Given the description of an element on the screen output the (x, y) to click on. 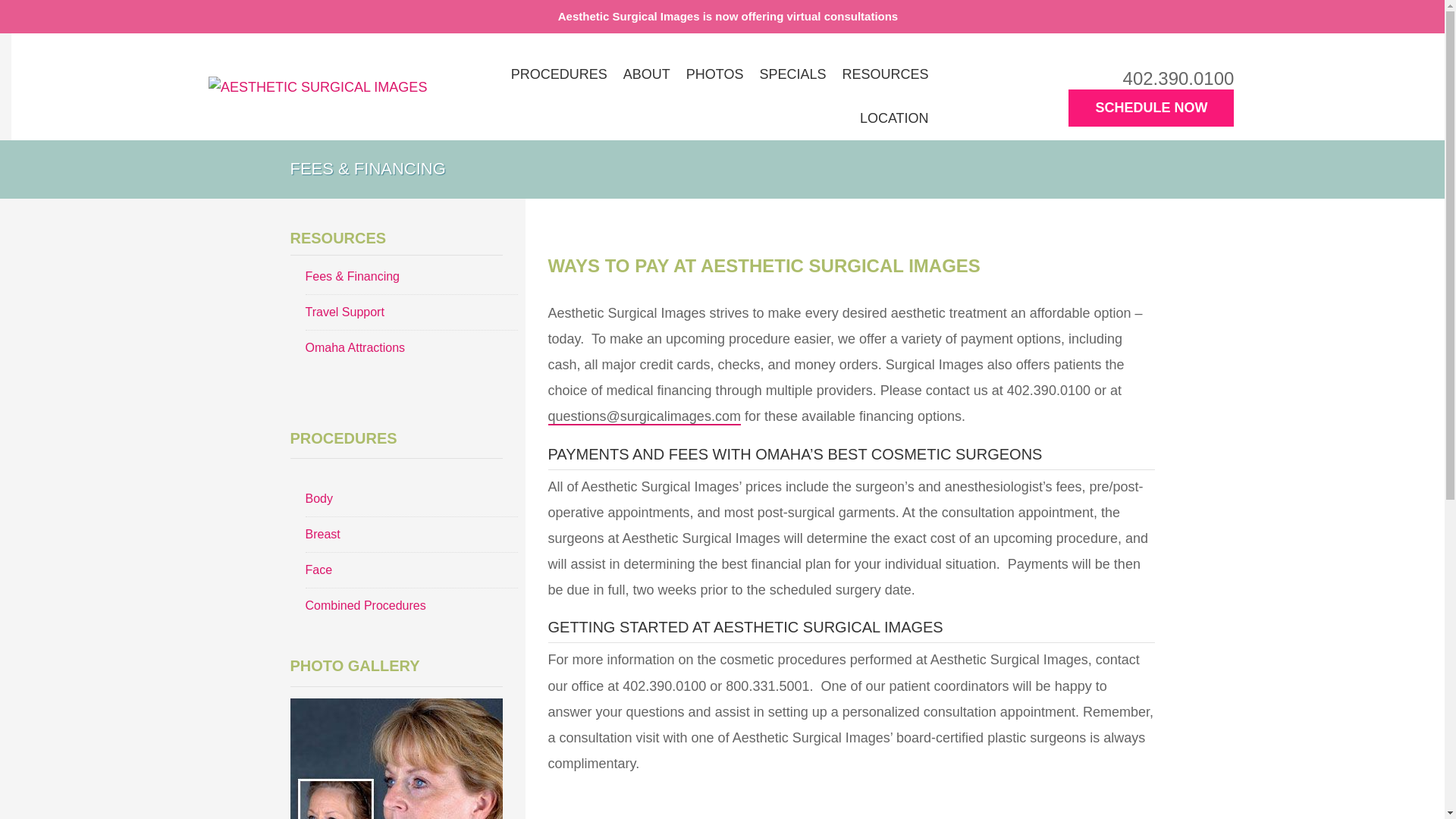
Contact us today! (727, 15)
Aesthetic Surgical Images (317, 87)
Aesthetic Surgical Images (317, 87)
ABOUT (647, 74)
PROCEDURES (558, 74)
